Given the description of an element on the screen output the (x, y) to click on. 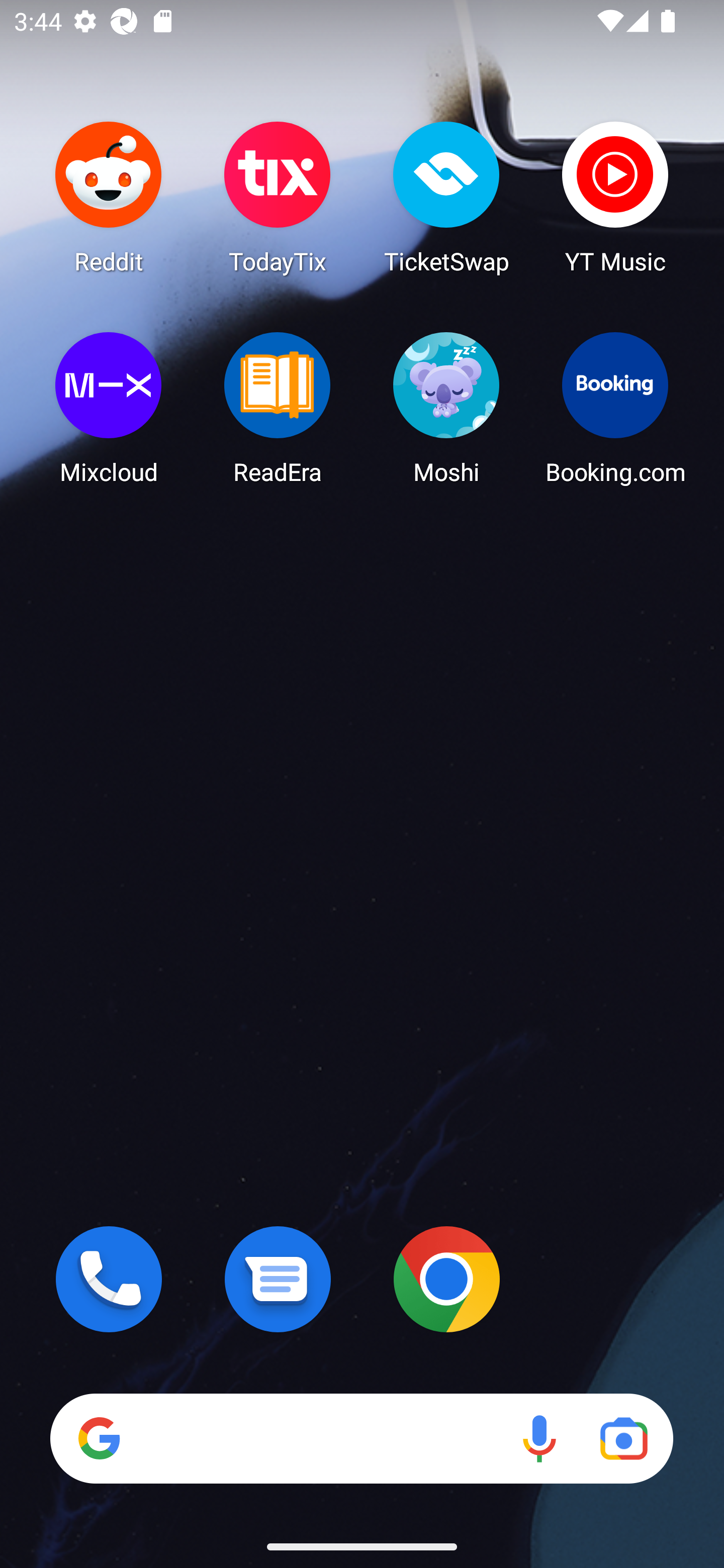
Reddit (108, 196)
TodayTix (277, 196)
TicketSwap (445, 196)
YT Music (615, 196)
Mixcloud (108, 407)
ReadEra (277, 407)
Moshi (445, 407)
Booking.com (615, 407)
Phone (108, 1279)
Messages (277, 1279)
Chrome (446, 1279)
Search Voice search Google Lens (361, 1438)
Voice search (539, 1438)
Google Lens (623, 1438)
